Given the description of an element on the screen output the (x, y) to click on. 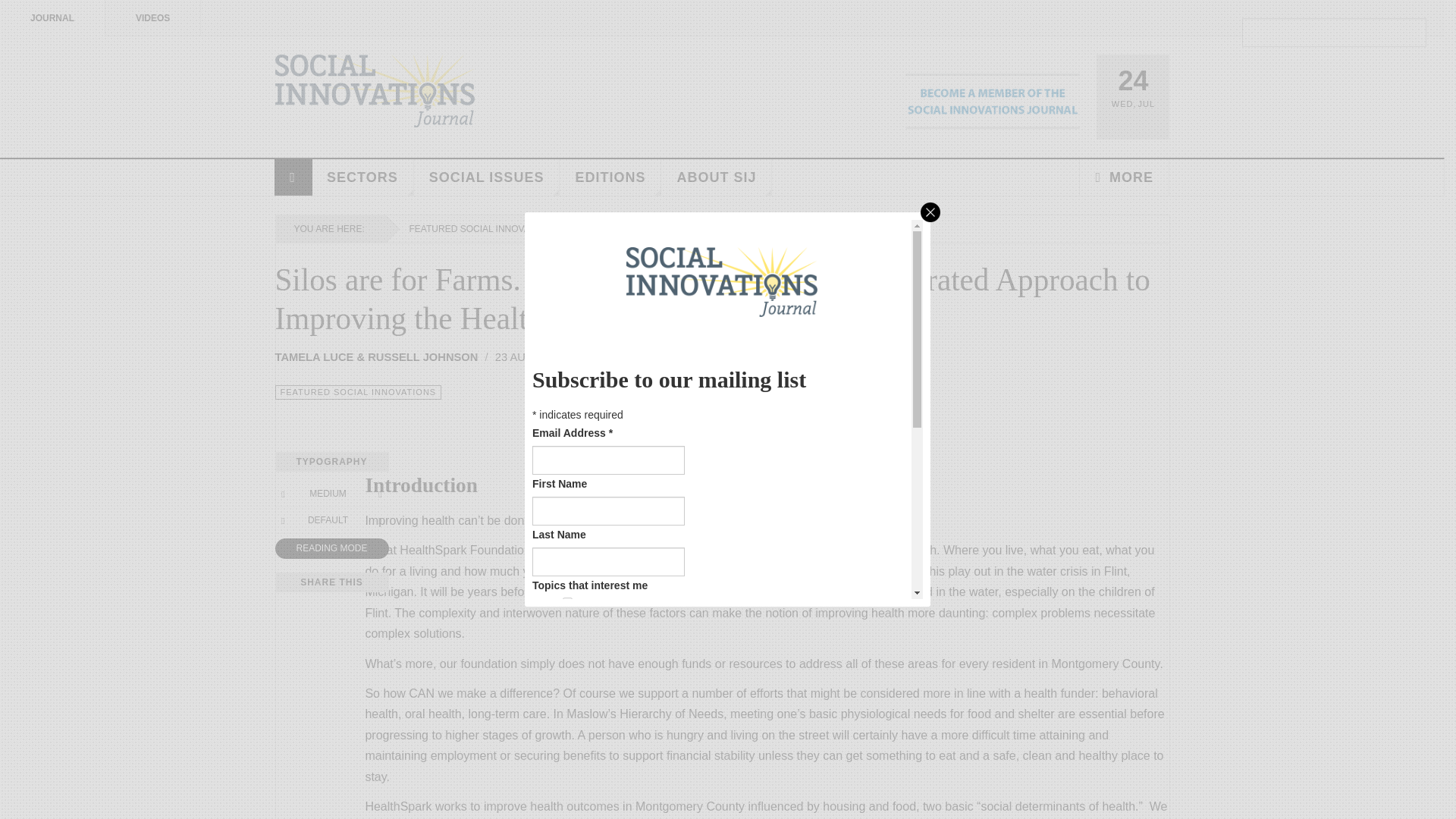
64 (567, 734)
Social Innovation Journal (374, 90)
2 (567, 624)
128 (567, 756)
32 (567, 712)
8 (567, 668)
512 (567, 800)
4 (567, 646)
16 (567, 690)
1 (567, 602)
256 (567, 777)
